Given the description of an element on the screen output the (x, y) to click on. 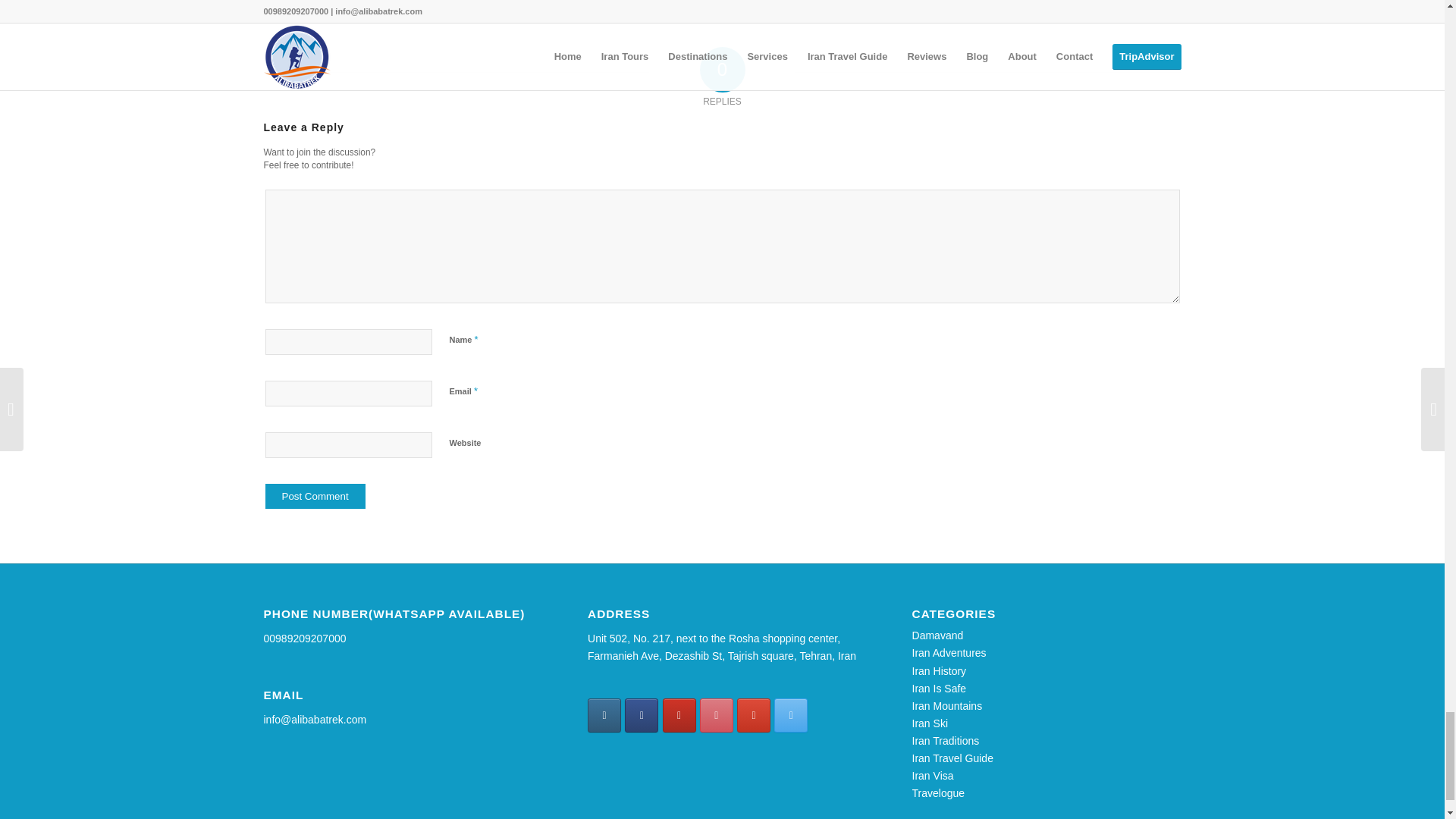
Post Comment (314, 496)
Instagram (604, 715)
Facebook (641, 715)
